Given the description of an element on the screen output the (x, y) to click on. 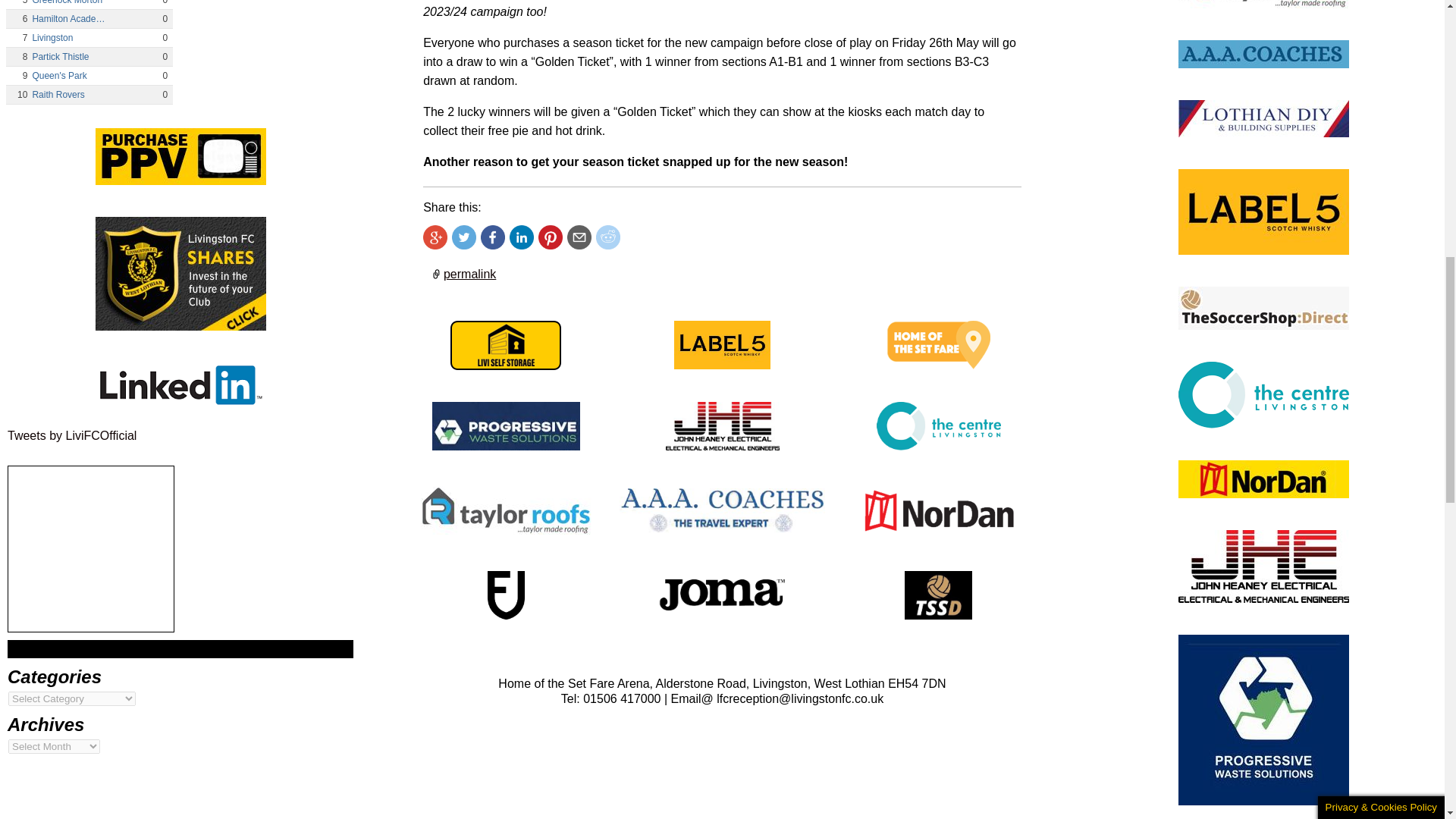
Click to share on Reddit (607, 237)
Click to share on Facebook (492, 237)
Click to share on Pinterest (550, 237)
Click to share on Google (434, 237)
Click to share on Twitter (463, 237)
Click to share on LinkedIn (521, 237)
Click to share by Email (579, 237)
